Given the description of an element on the screen output the (x, y) to click on. 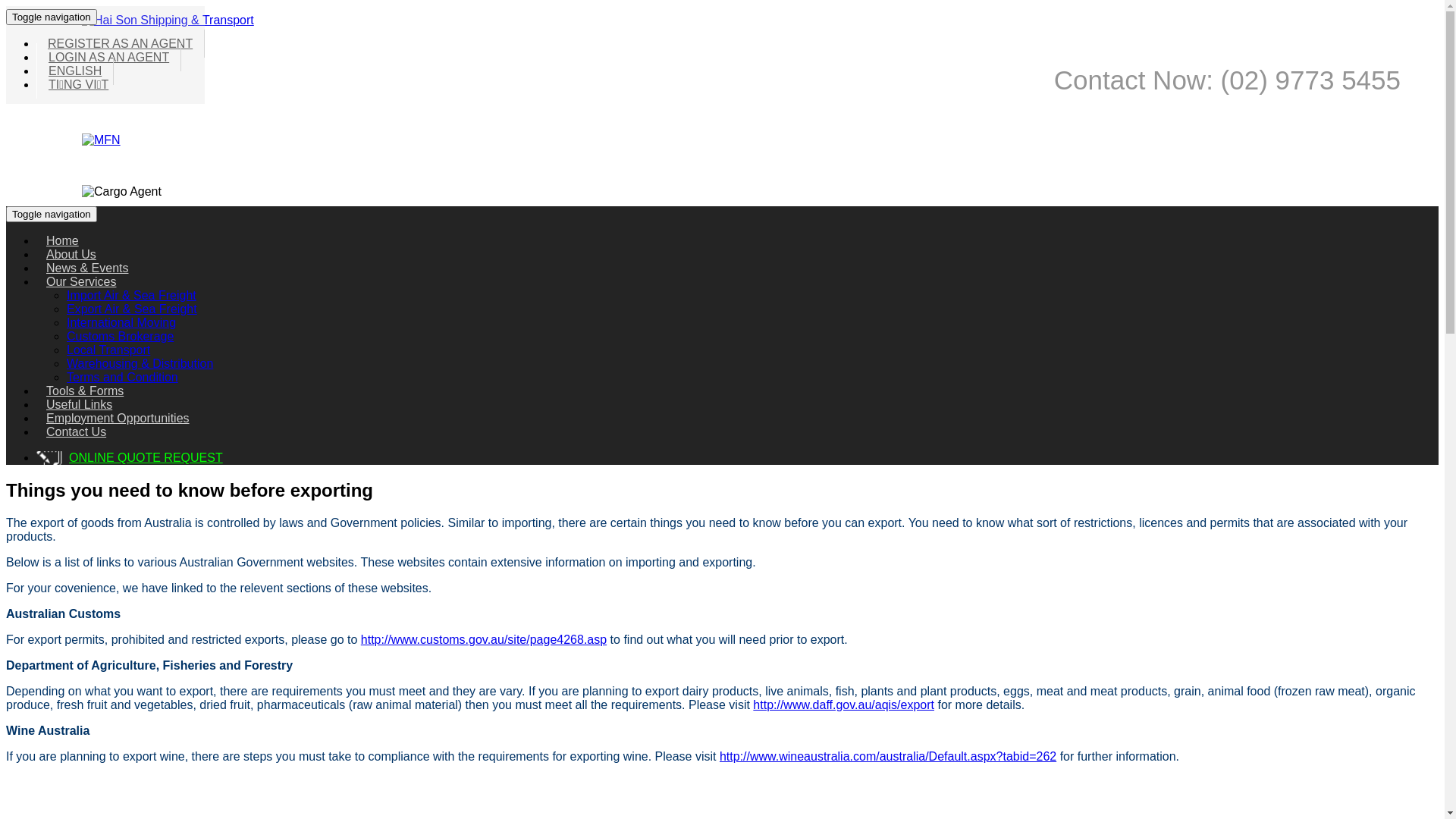
REGISTER AS AN AGENT Element type: text (120, 43)
Tools & Forms Element type: text (84, 390)
International Moving Element type: text (120, 322)
Hai Son Shipping & Transport Element type: hover (167, 20)
Useful Links Element type: text (79, 404)
http://www.daff.gov.au/aqis/export Element type: text (843, 704)
Hai Son Shipping & Transport Element type: hover (167, 19)
Contact Us Element type: text (76, 431)
Terms and Condition Element type: text (122, 376)
About Us Element type: text (71, 254)
http://www.customs.gov.au/site/page4268.asp Element type: text (483, 639)
Warehousing & Distribution Element type: text (139, 363)
Cargo Agent Element type: hover (121, 191)
Local Transport Element type: text (108, 349)
MFN Element type: hover (100, 140)
Our Services Element type: text (80, 281)
Export Air & Sea Freight Element type: text (131, 308)
Toggle navigation Element type: text (51, 17)
LOGIN AS AN AGENT Element type: text (108, 57)
ONLINE QUOTE REQUEST Element type: text (145, 457)
Employment Opportunities Element type: text (117, 418)
Customs Brokerage Element type: text (119, 335)
Home Element type: text (62, 240)
Toggle navigation Element type: text (51, 214)
Import Air & Sea Freight Element type: text (131, 294)
ENGLISH Element type: text (74, 70)
News & Events Element type: text (87, 268)
